Given the description of an element on the screen output the (x, y) to click on. 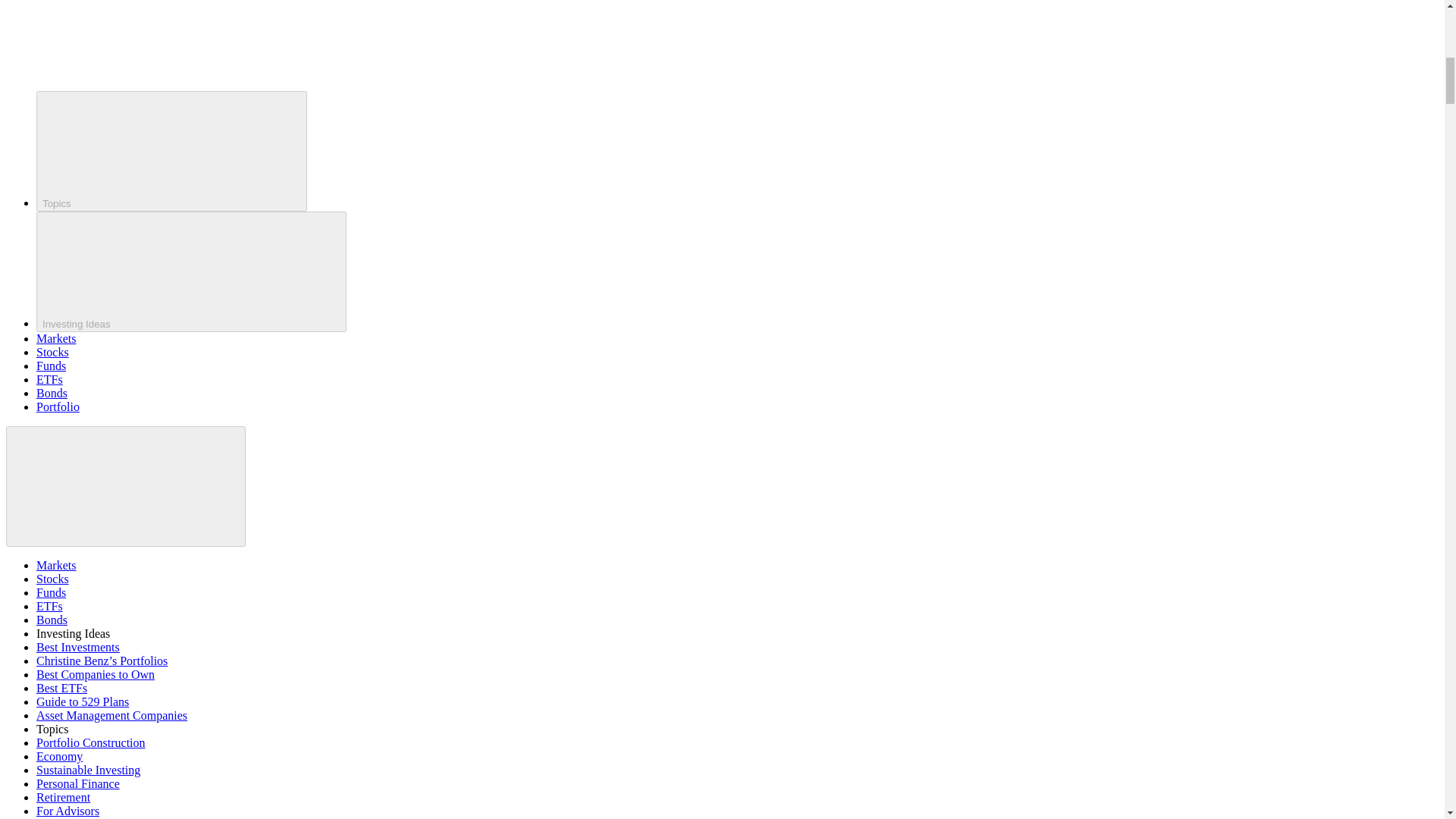
Funds (50, 365)
Funds (50, 592)
ETFs (49, 605)
Markets (55, 564)
Stocks (52, 351)
Investing Ideas (191, 271)
Bonds (51, 619)
Markets (55, 338)
Portfolio (58, 406)
Best ETFs (61, 687)
Personal Finance (77, 783)
Sustainable Investing (87, 769)
Retirement (63, 797)
ETFs (49, 379)
Best Investments (77, 646)
